Given the description of an element on the screen output the (x, y) to click on. 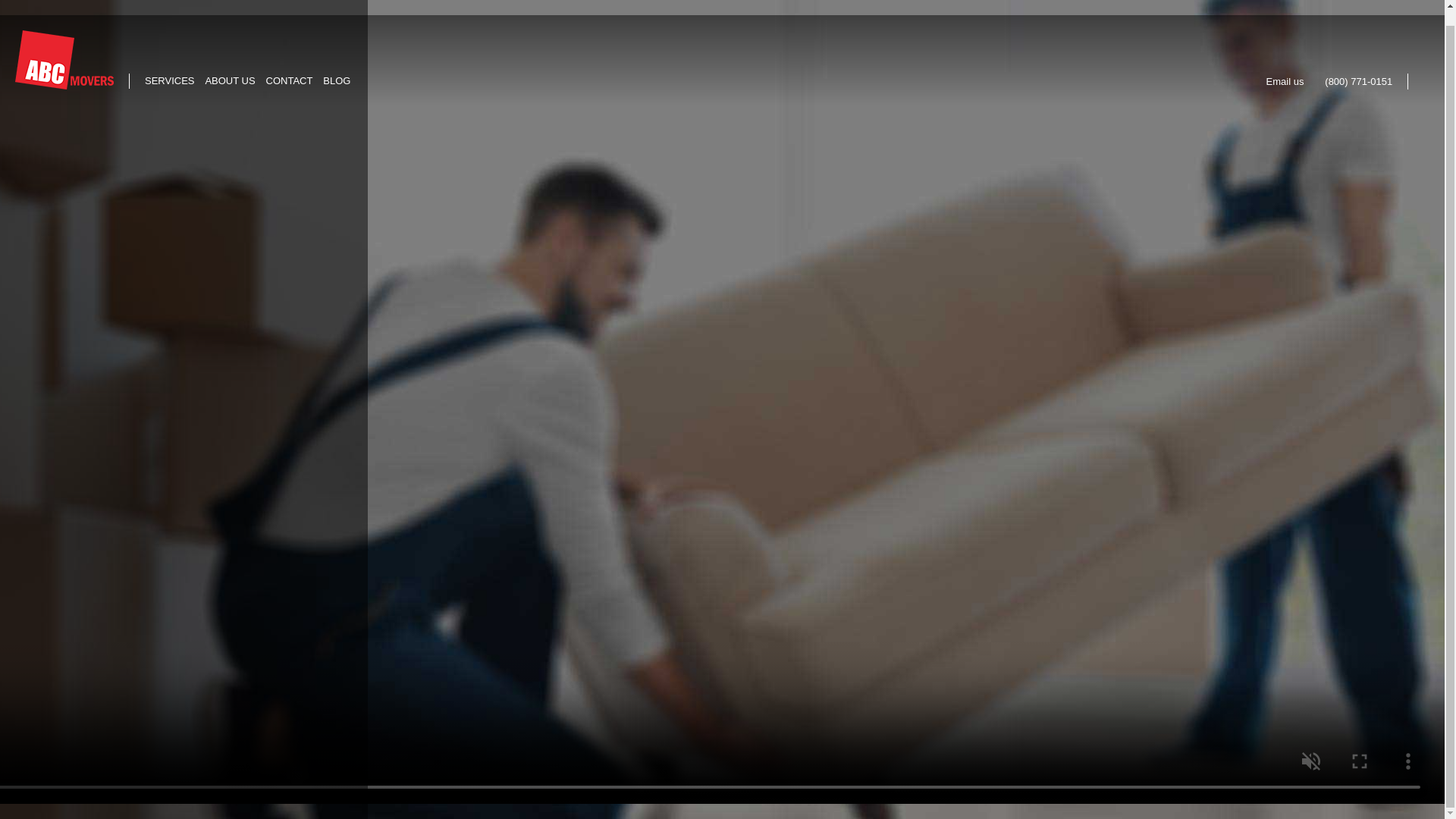
CONTACT (293, 64)
ABC Movers (63, 44)
ABOUT US (233, 64)
BLOG (340, 64)
SERVICES (173, 64)
Email us (1291, 65)
